Given the description of an element on the screen output the (x, y) to click on. 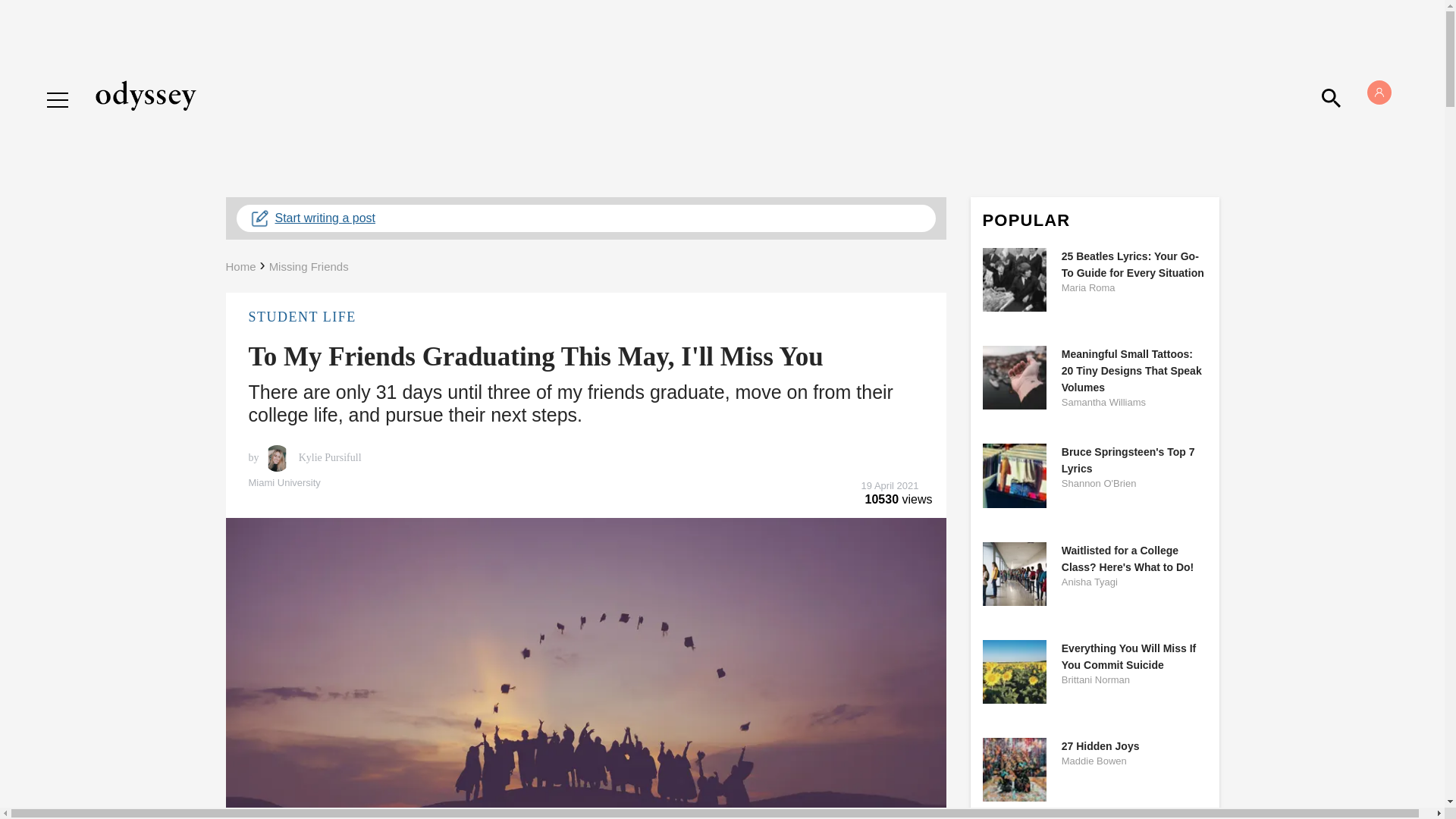
STUDENT LIFE (585, 316)
GO BACK (79, 85)
Home (240, 266)
Kylie Pursifull (328, 457)
Missing Friends (309, 266)
To My Friends Graduating This May, I'll Miss You (536, 356)
Start writing a post (585, 217)
